Given the description of an element on the screen output the (x, y) to click on. 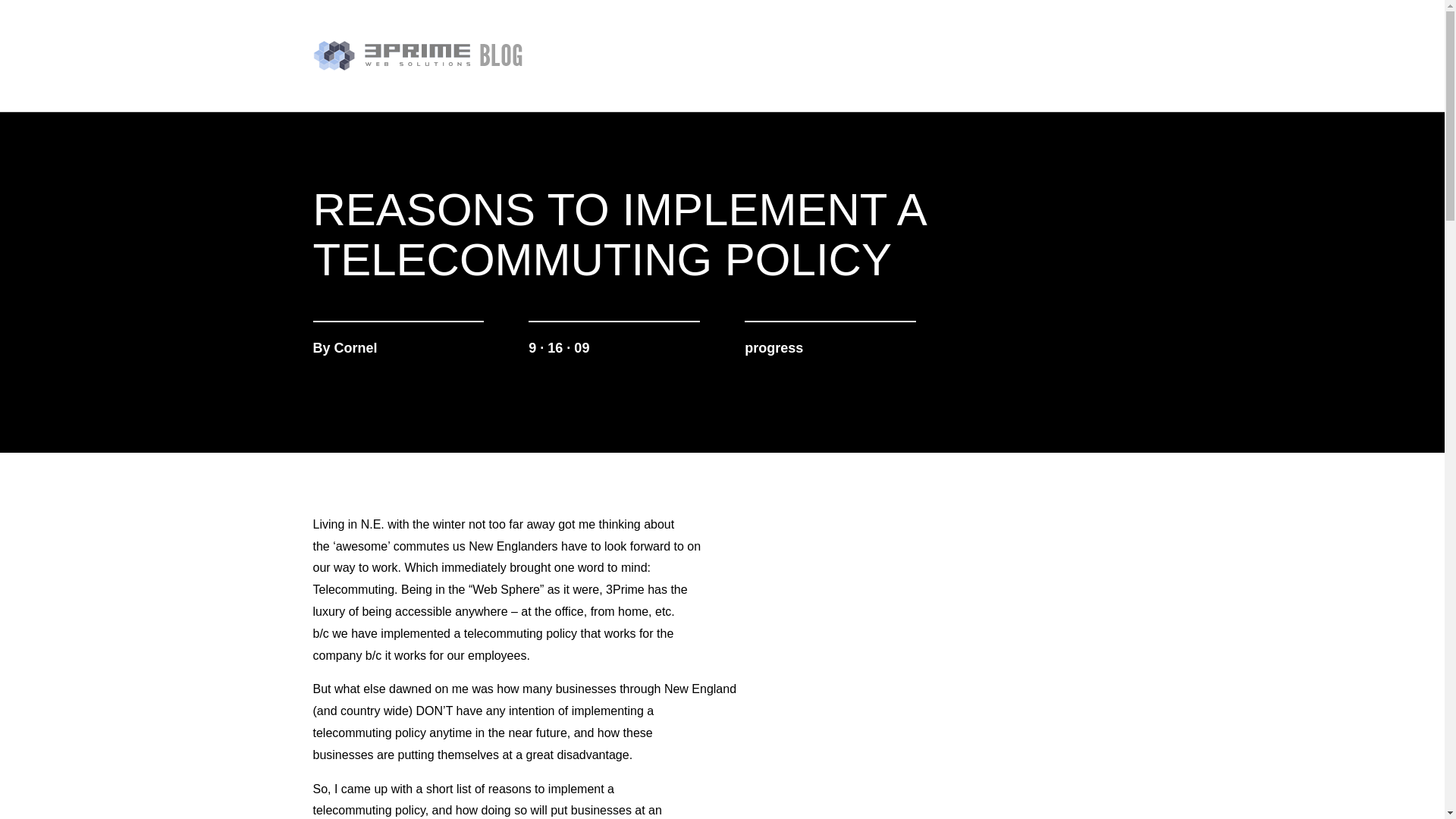
progress (773, 347)
header-logo (417, 55)
Cornel (355, 347)
